Given the description of an element on the screen output the (x, y) to click on. 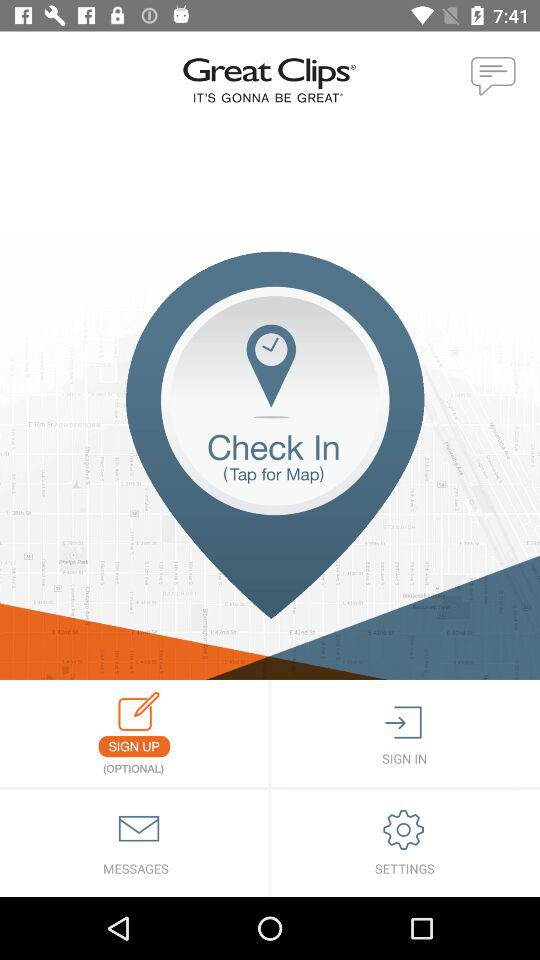
open chat or text box (494, 77)
